Given the description of an element on the screen output the (x, y) to click on. 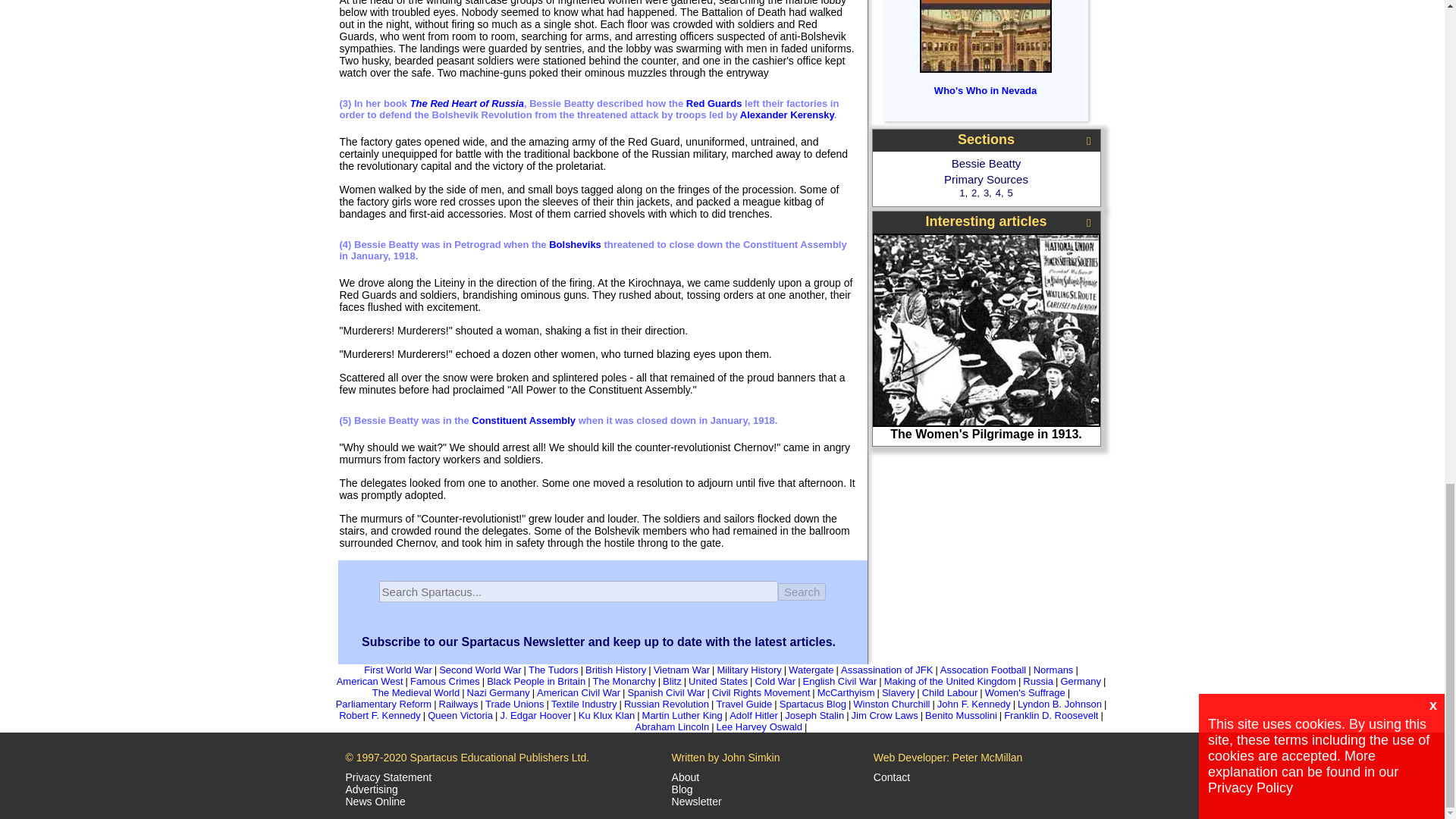
Search (802, 591)
